Given the description of an element on the screen output the (x, y) to click on. 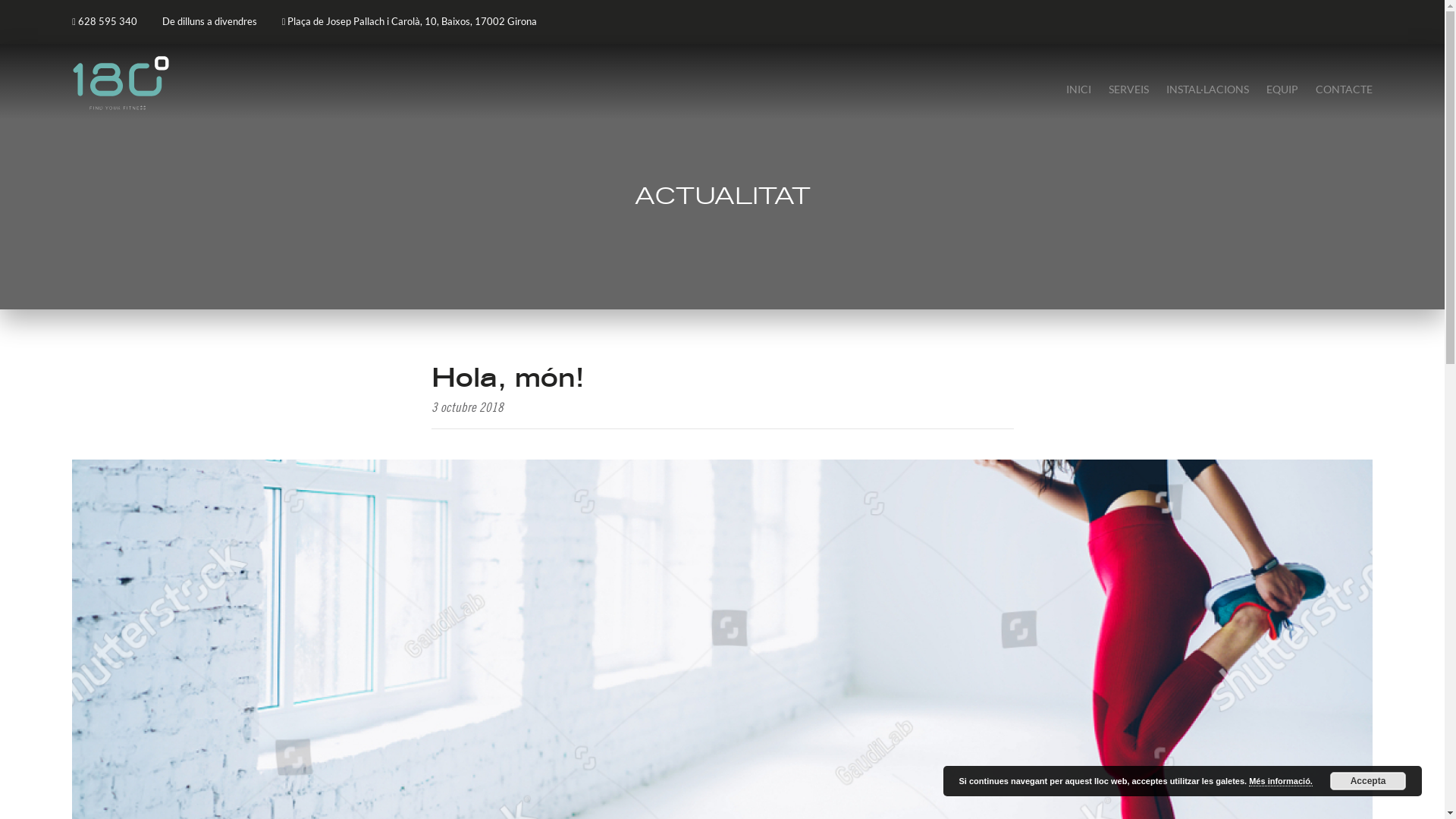
EQUIP Element type: text (1282, 88)
SERVEIS Element type: text (1128, 88)
CONTACTE Element type: text (1343, 88)
INICI Element type: text (1078, 88)
Accepta Element type: text (1367, 780)
